Given the description of an element on the screen output the (x, y) to click on. 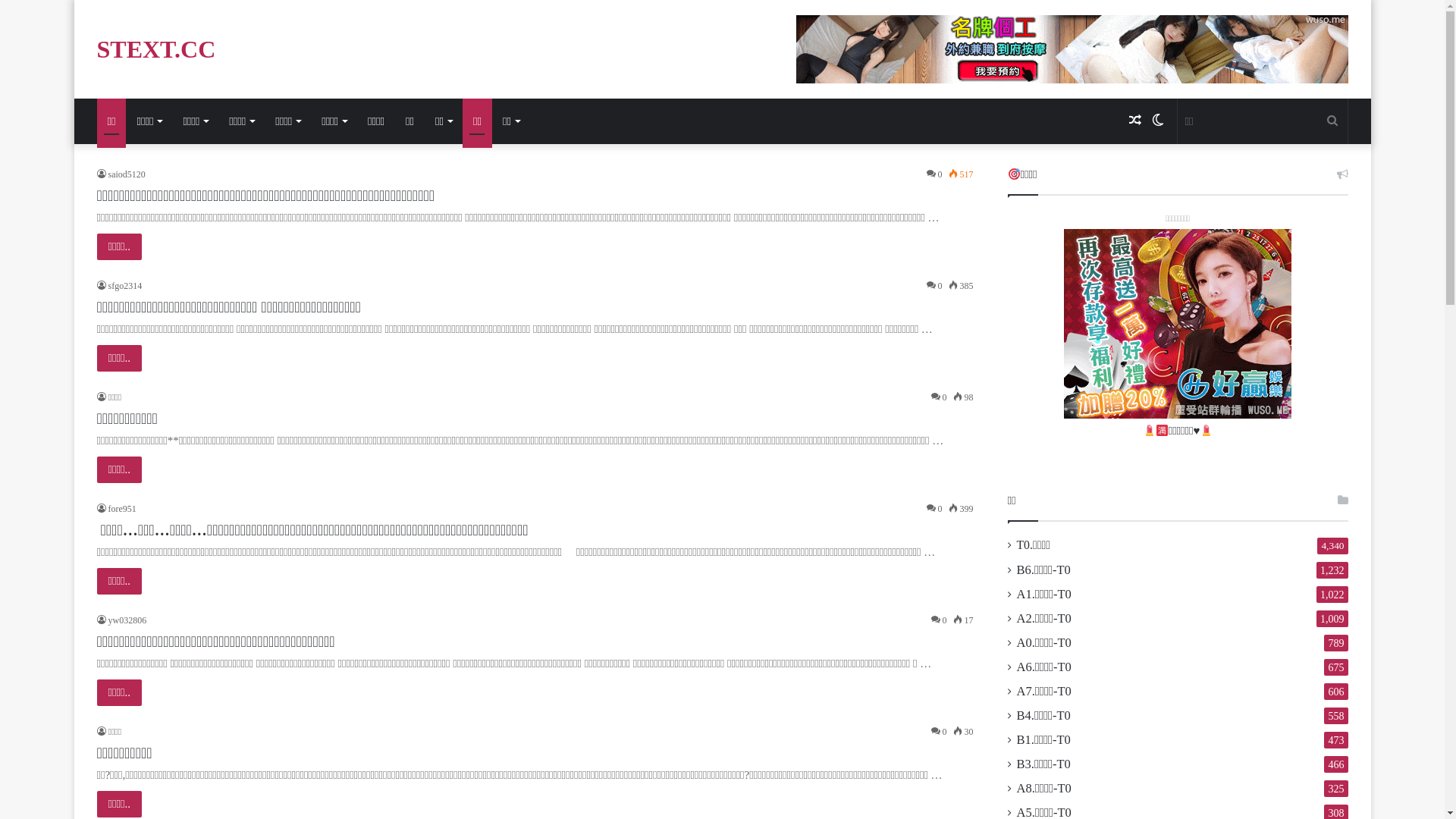
sfgo2314 Element type: text (119, 285)
saiod5120 Element type: text (121, 174)
yw032806 Element type: text (122, 620)
fore951 Element type: text (116, 508)
Switch skin Element type: text (1157, 121)
STEXT.CC Element type: text (156, 49)
